Given the description of an element on the screen output the (x, y) to click on. 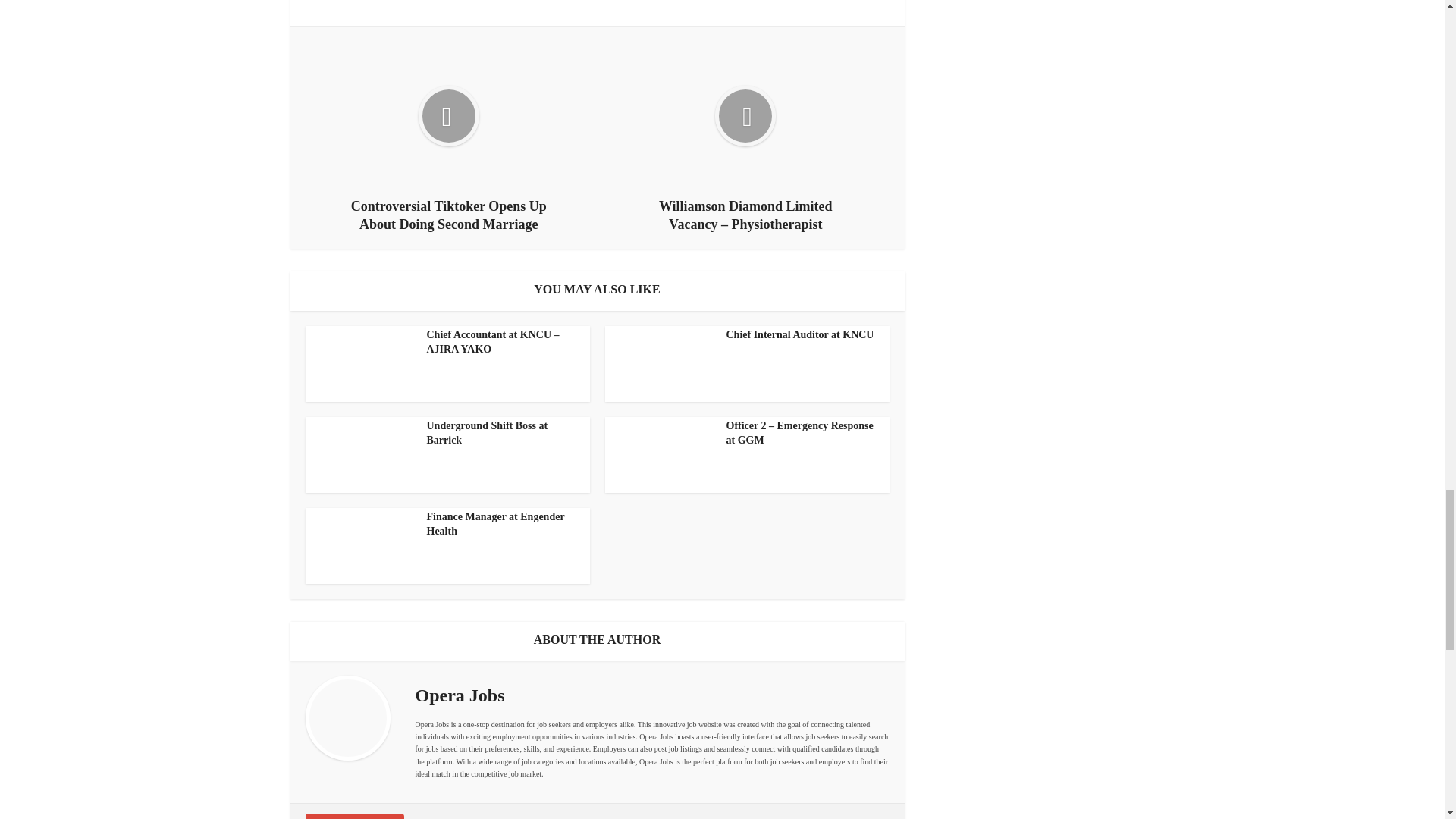
Underground Shift Boss at Barrick (486, 432)
Chief Internal Auditor at KNCU (800, 334)
Controversial Tiktoker Opens Up About Doing Second Marriage (449, 136)
Underground Shift Boss at Barrick (486, 432)
View all posts (353, 816)
Chief Internal Auditor at KNCU (800, 334)
Finance Manager at Engender Health (495, 524)
